Given the description of an element on the screen output the (x, y) to click on. 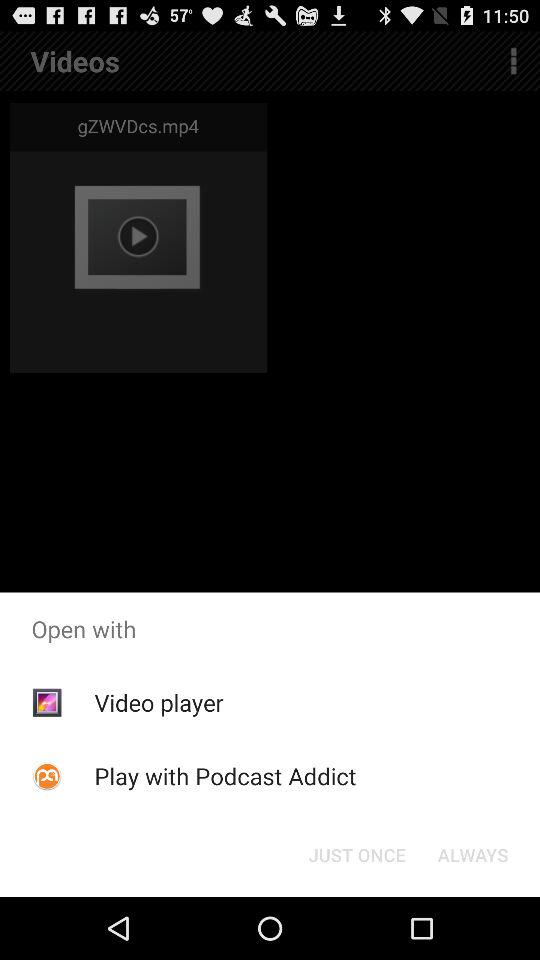
turn off icon at the bottom right corner (472, 854)
